Given the description of an element on the screen output the (x, y) to click on. 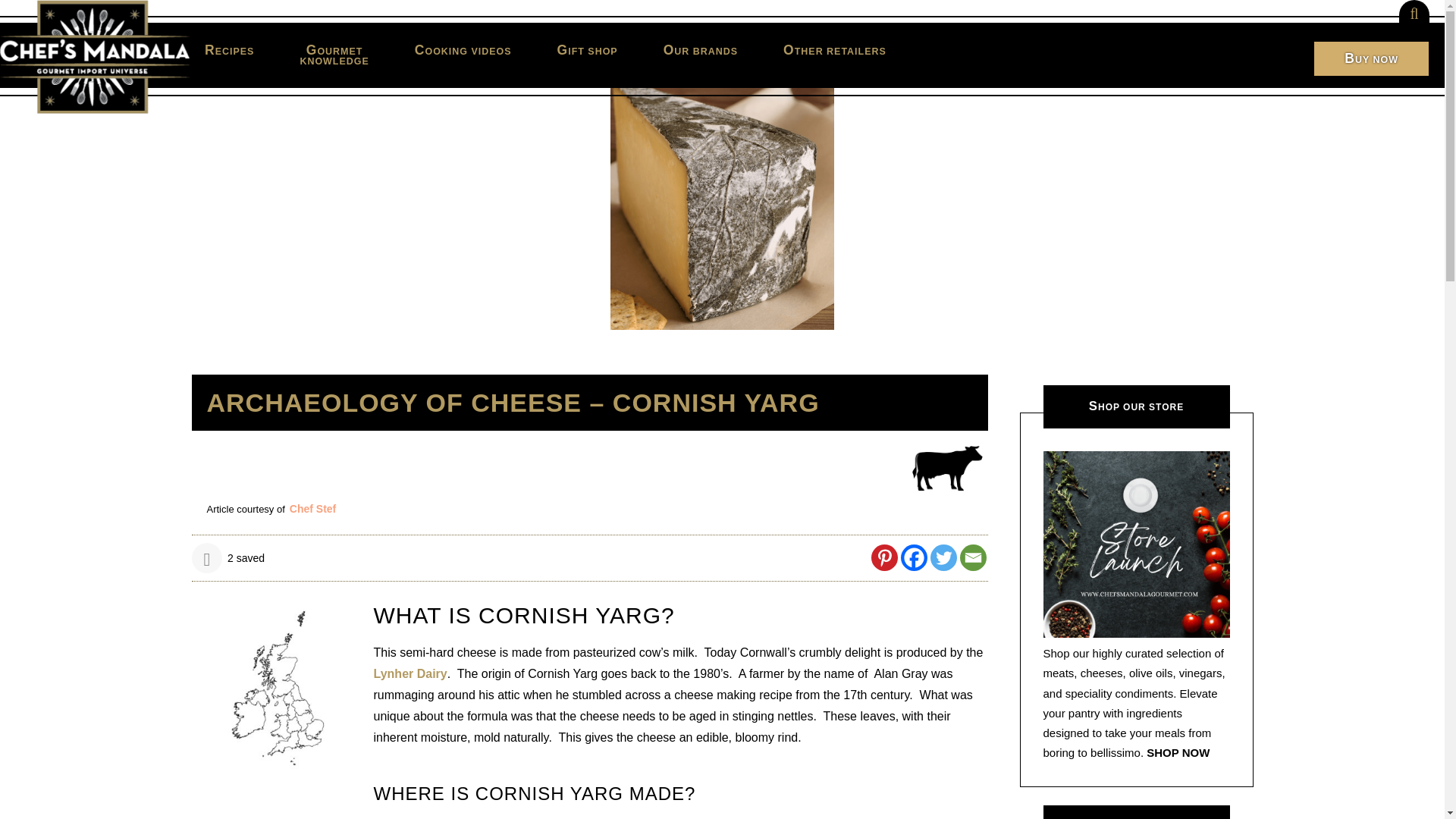
Email (973, 557)
Facebook (334, 55)
CHEF'S MANDALA (914, 557)
RECIPES (94, 56)
Pinterest (228, 50)
Twitter (883, 557)
